Given the description of an element on the screen output the (x, y) to click on. 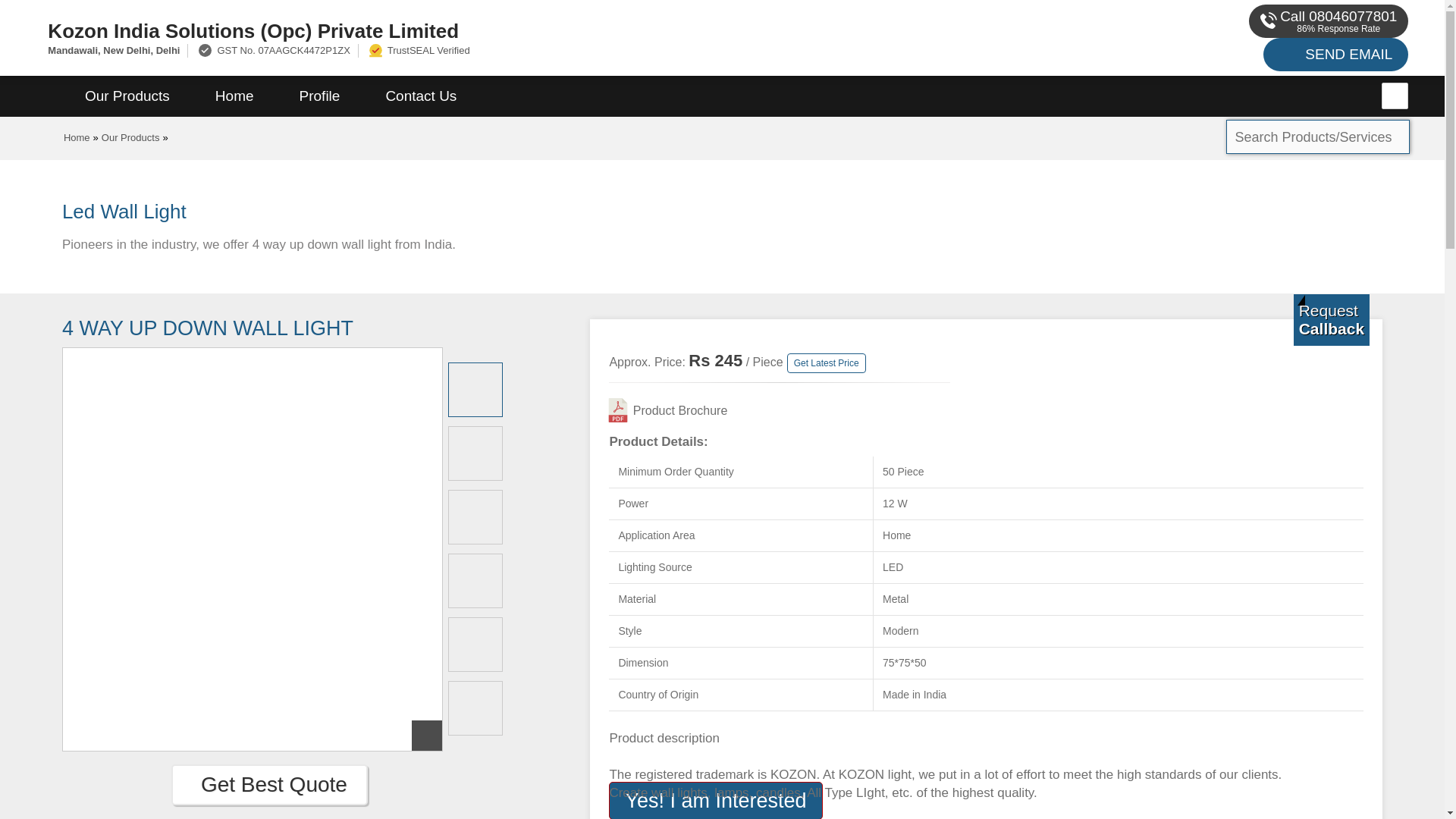
Get a Call from us (1332, 319)
Our Products (127, 96)
